Given the description of an element on the screen output the (x, y) to click on. 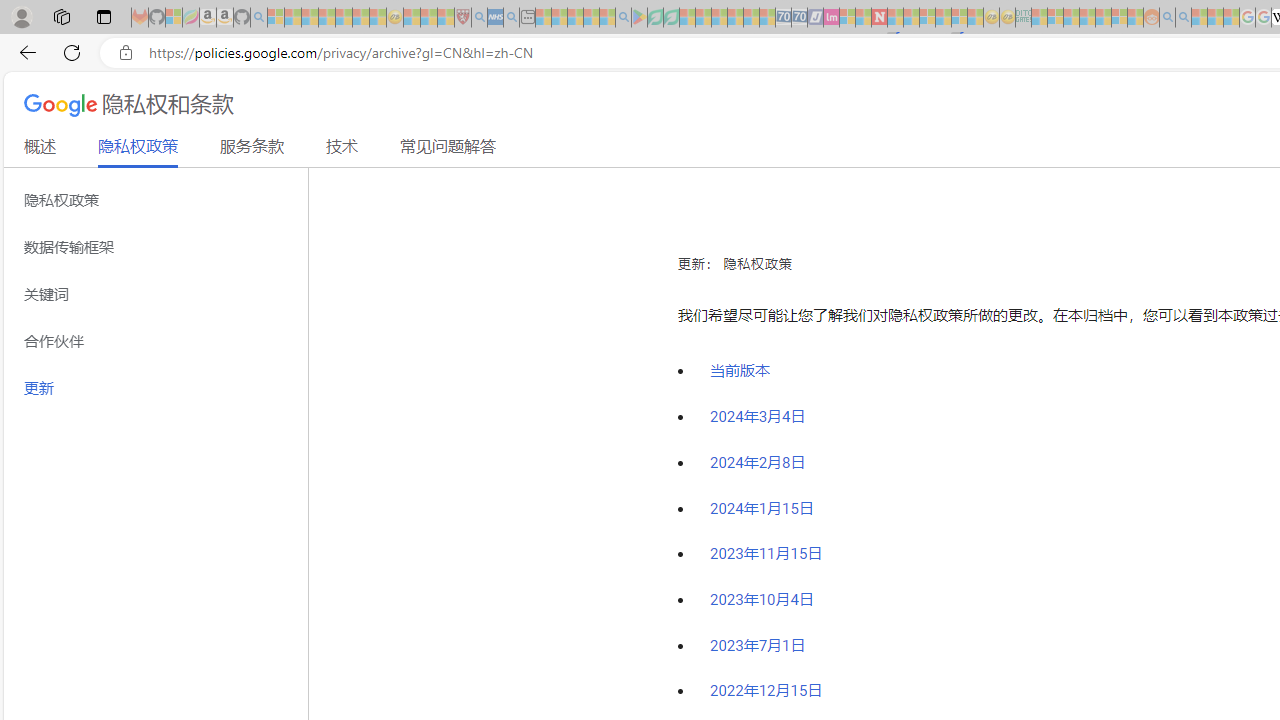
DITOGAMES AG Imprint - Sleeping (1023, 17)
MSNBC - MSN - Sleeping (1039, 17)
Terms of Use Agreement - Sleeping (655, 17)
